Given the description of an element on the screen output the (x, y) to click on. 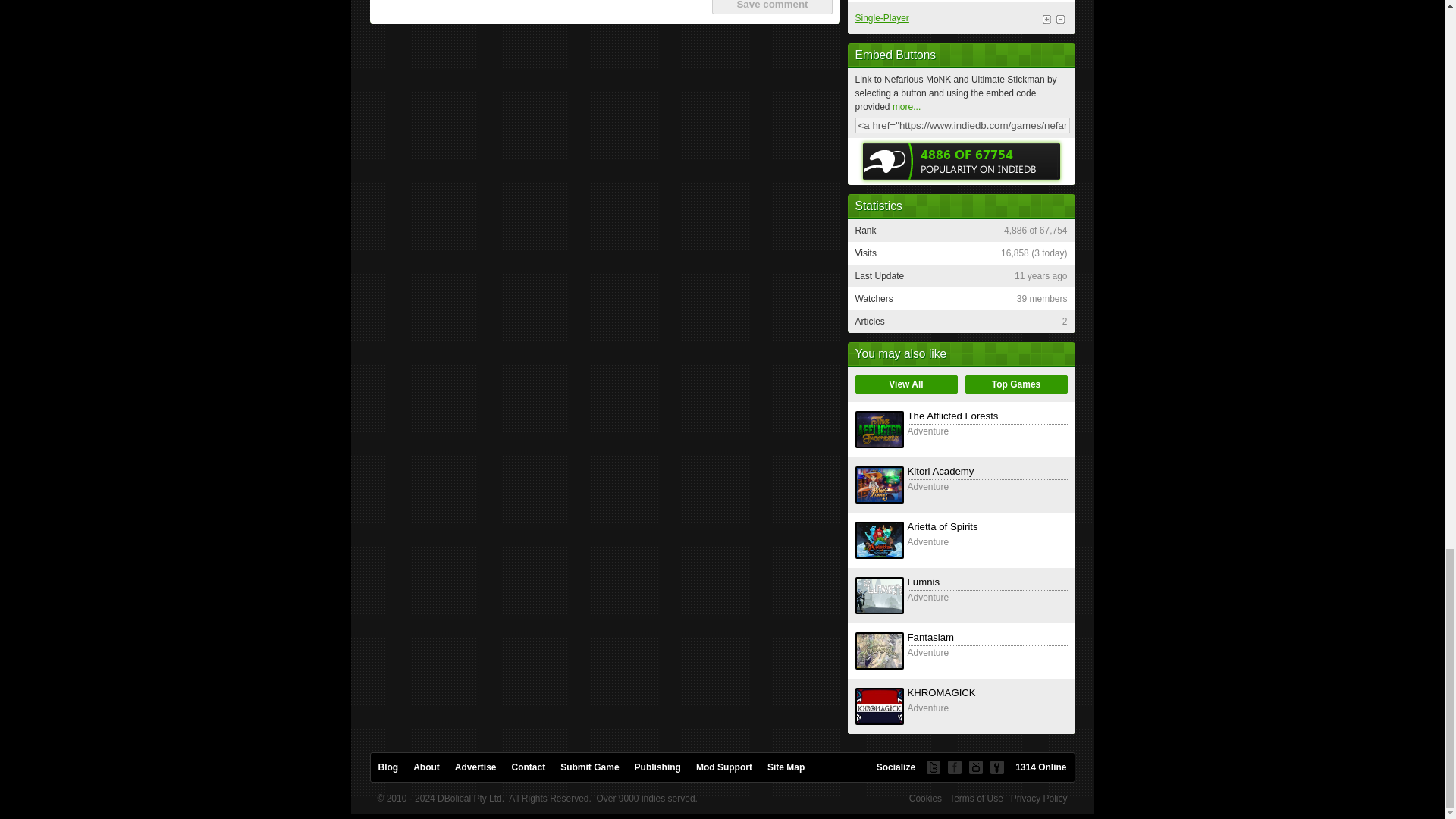
Save comment (771, 7)
